Given the description of an element on the screen output the (x, y) to click on. 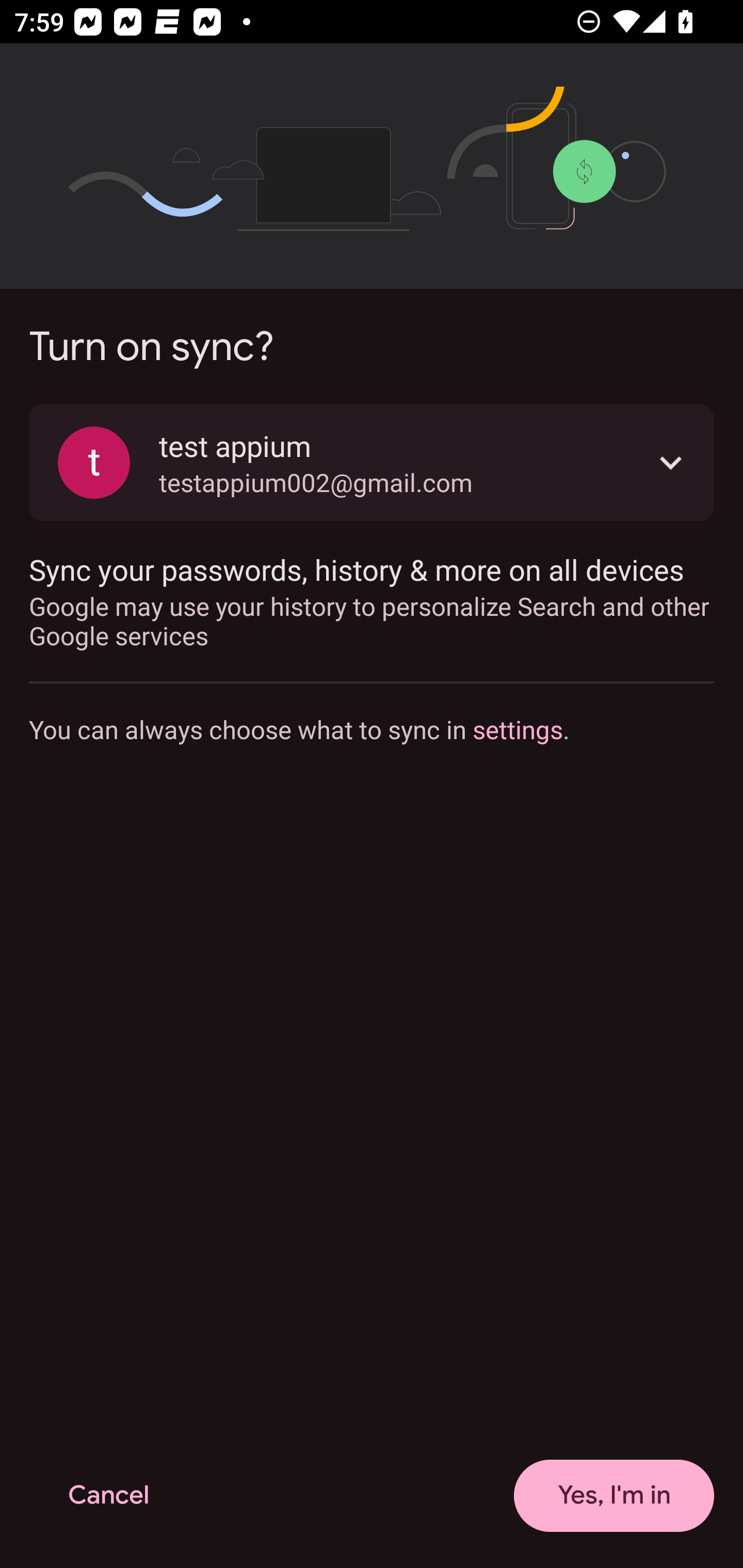
test appium testappium002@gmail.com (371, 462)
Cancel (107, 1495)
Yes, I'm in (614, 1495)
